Given the description of an element on the screen output the (x, y) to click on. 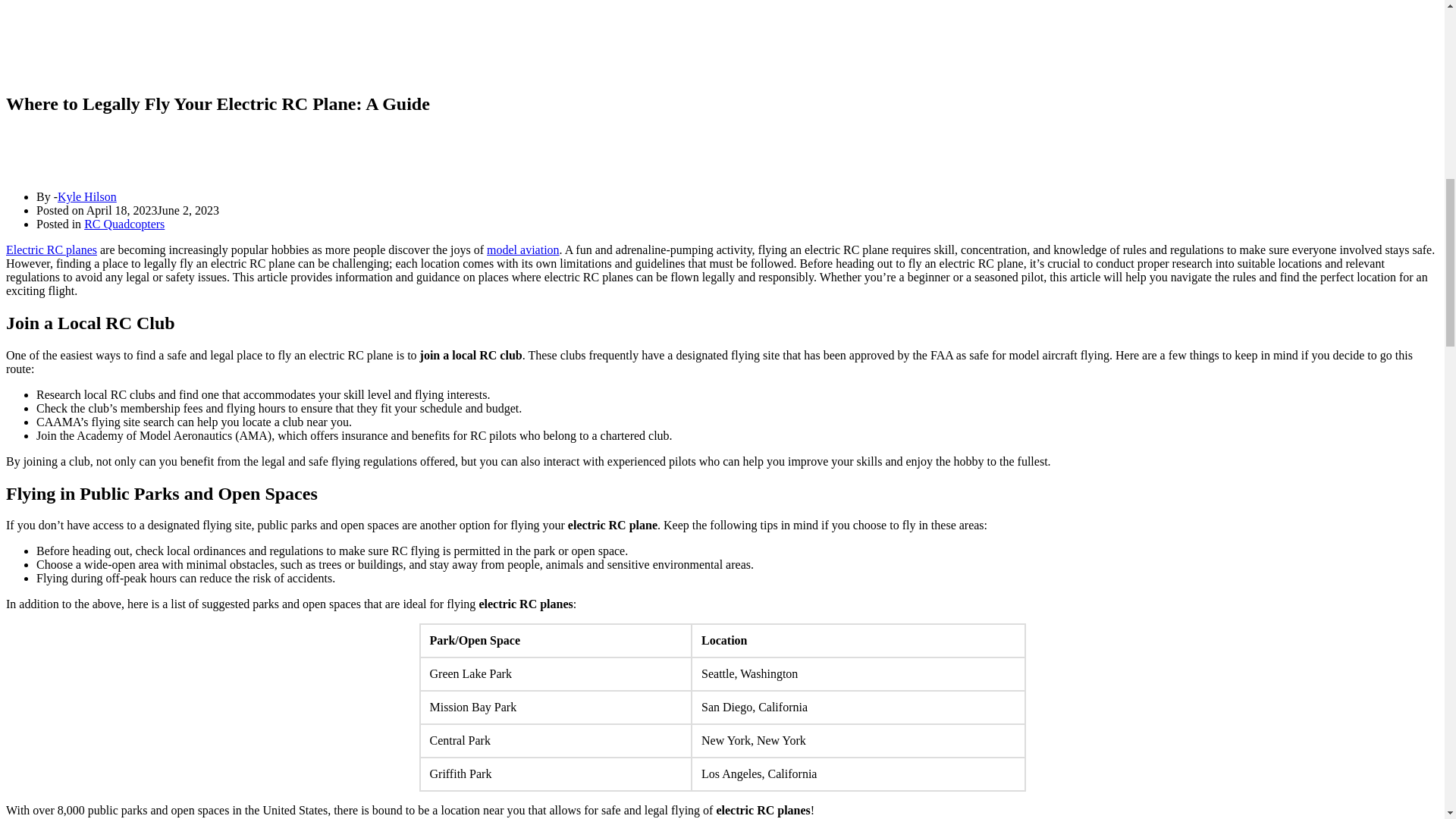
Electric RC planes (51, 249)
Kyle Hilson (87, 196)
model aviation (522, 249)
RC Quadcopters (124, 223)
